Given the description of an element on the screen output the (x, y) to click on. 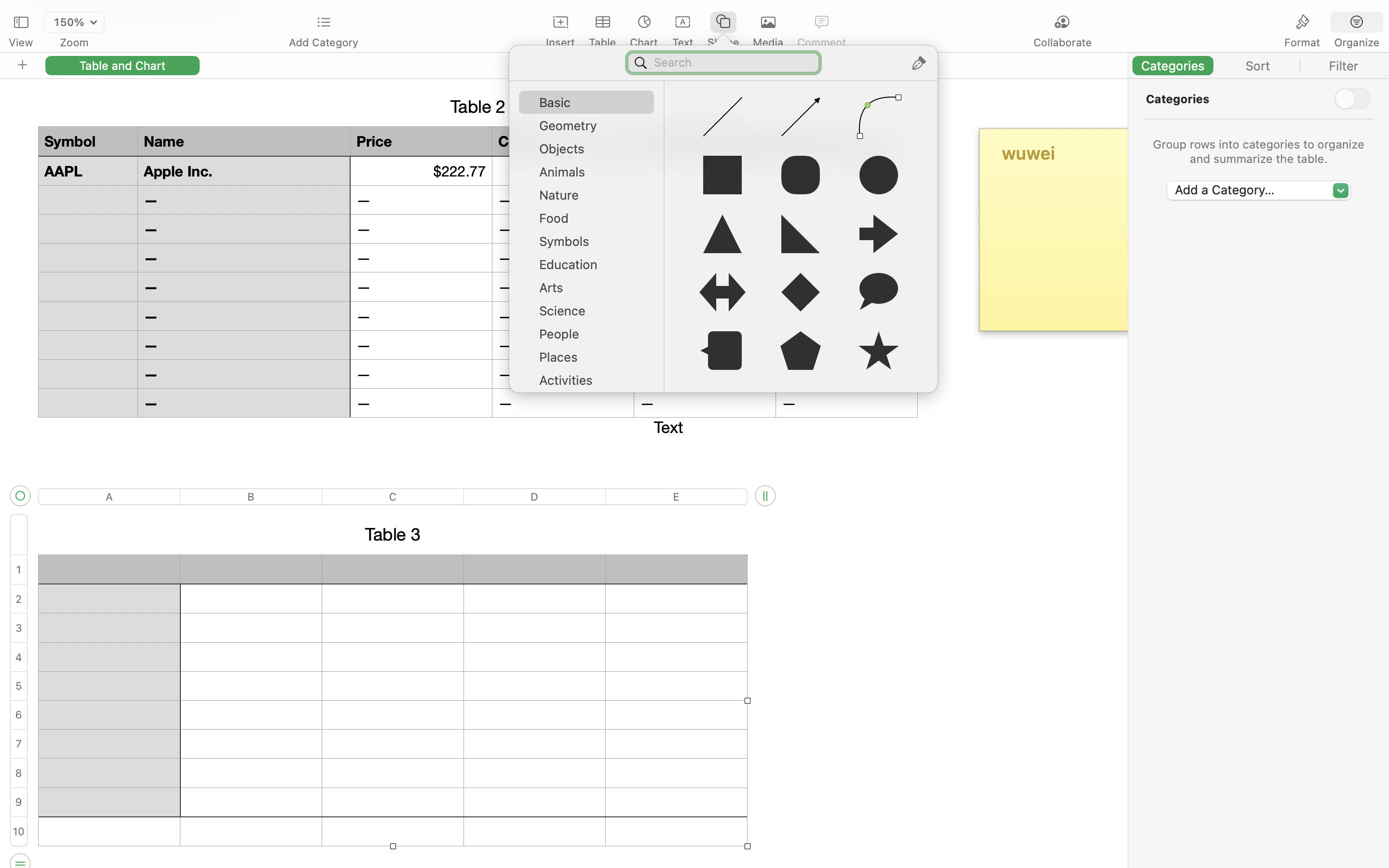
People Element type: AXStaticText (591, 337)
Ornaments Element type: AXStaticText (591, 452)
Science Element type: AXStaticText (591, 313)
